Given the description of an element on the screen output the (x, y) to click on. 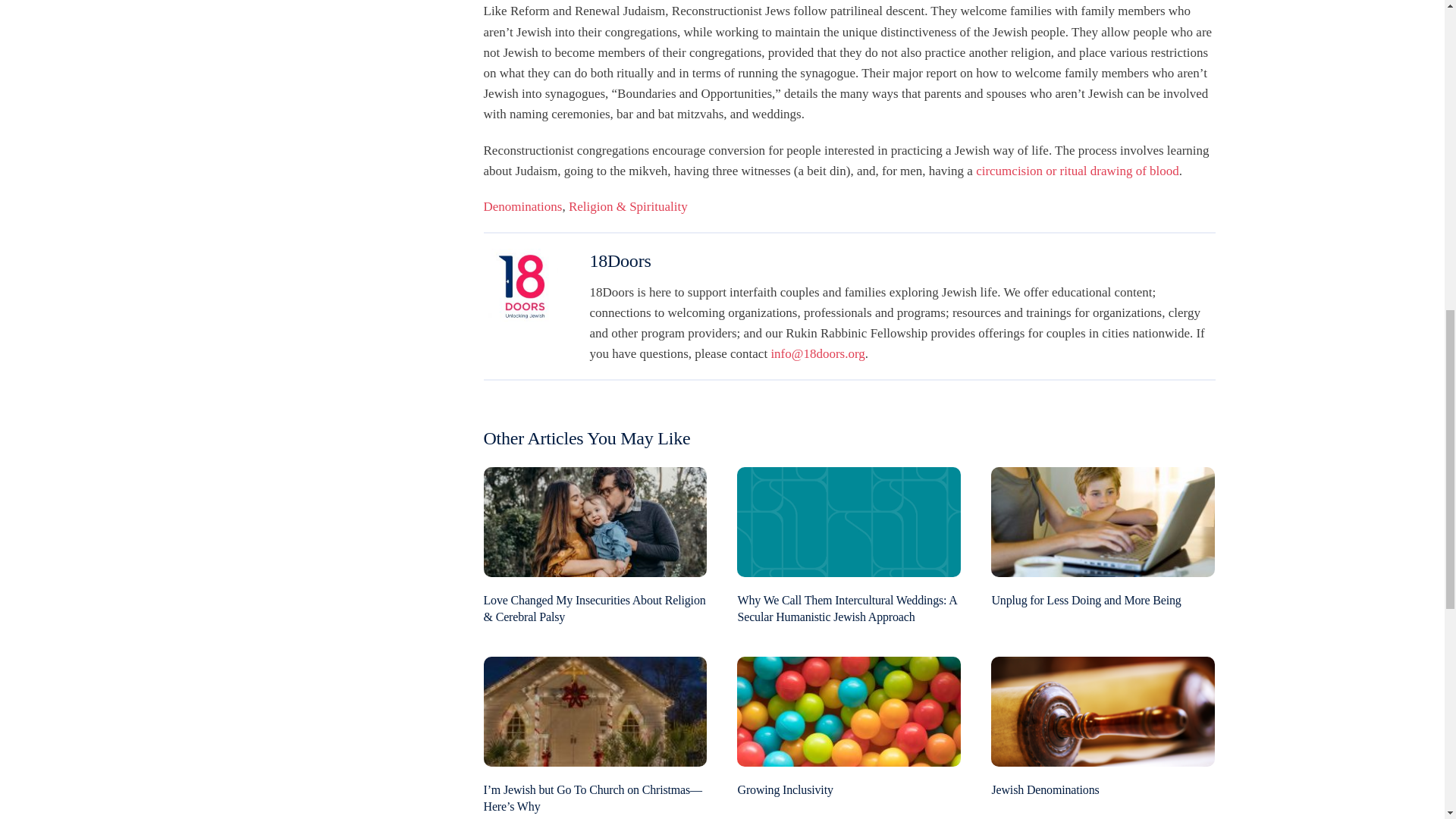
Unplug for Less Doing and More Being (1102, 520)
Jewish Denominations (1045, 789)
Growing Inclusivity (848, 709)
Unplug for Less Doing and More Being (1085, 599)
Jewish Denominations (1102, 709)
Growing Inclusivity (784, 789)
